Given the description of an element on the screen output the (x, y) to click on. 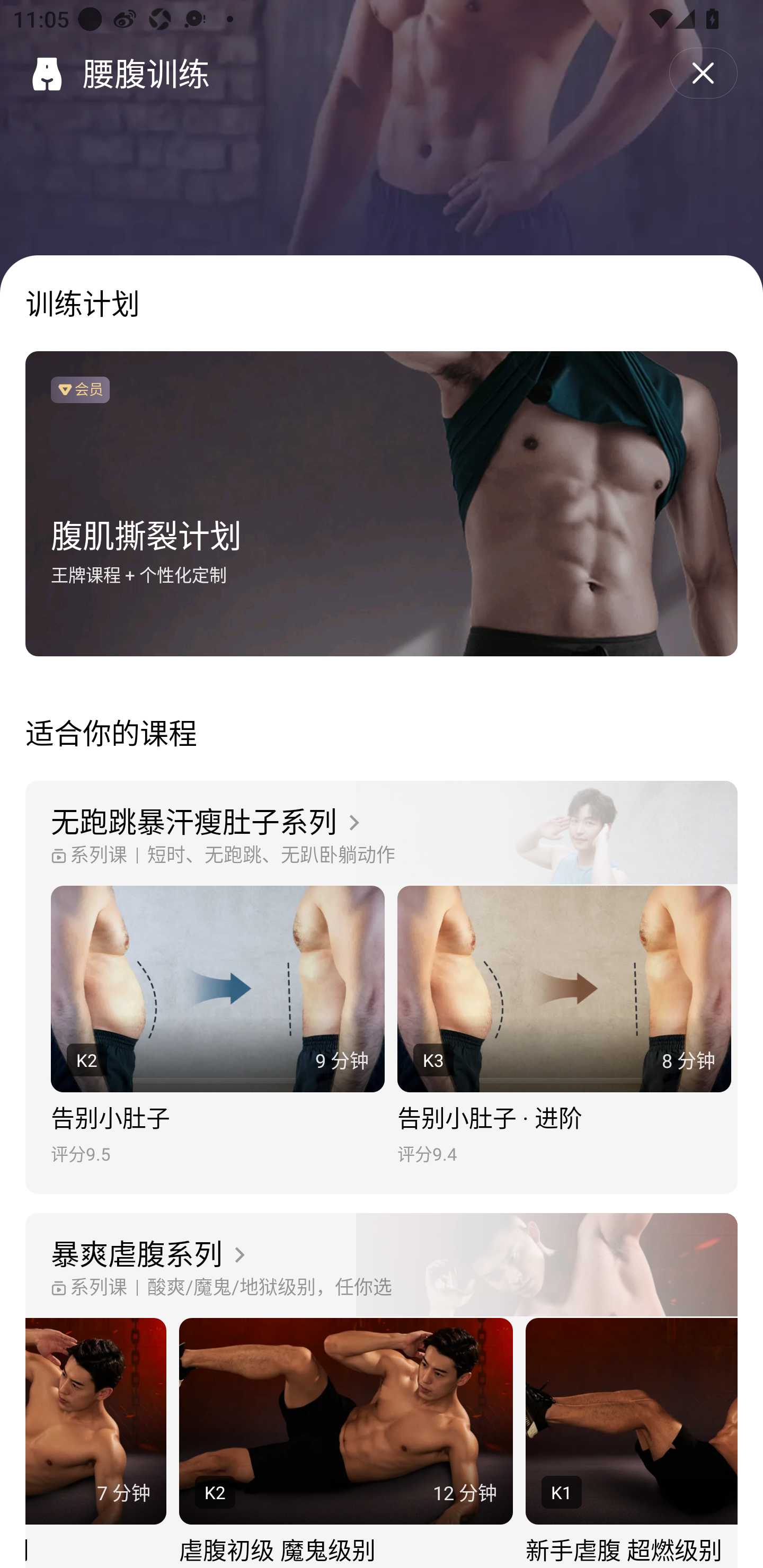
会员 腹肌撕裂计划 王牌课程 + 个性化定制 (381, 503)
无跑跳暴汗瘦肚子系列 系列课 短时、无跑跳、无趴卧躺动作 (381, 832)
K2 9 分钟 告别小肚子 评分9.5 (217, 1025)
K3 8 分钟 告别小肚子 · 进阶 评分9.4 (563, 1025)
暴爽虐腹系列 系列课 酸爽/魔鬼/地狱级别，任你选 (381, 1265)
K2 12 分钟 虐腹初级 魔鬼级别 (345, 1443)
K1 新手虐腹 超燃级别 (631, 1443)
